Given the description of an element on the screen output the (x, y) to click on. 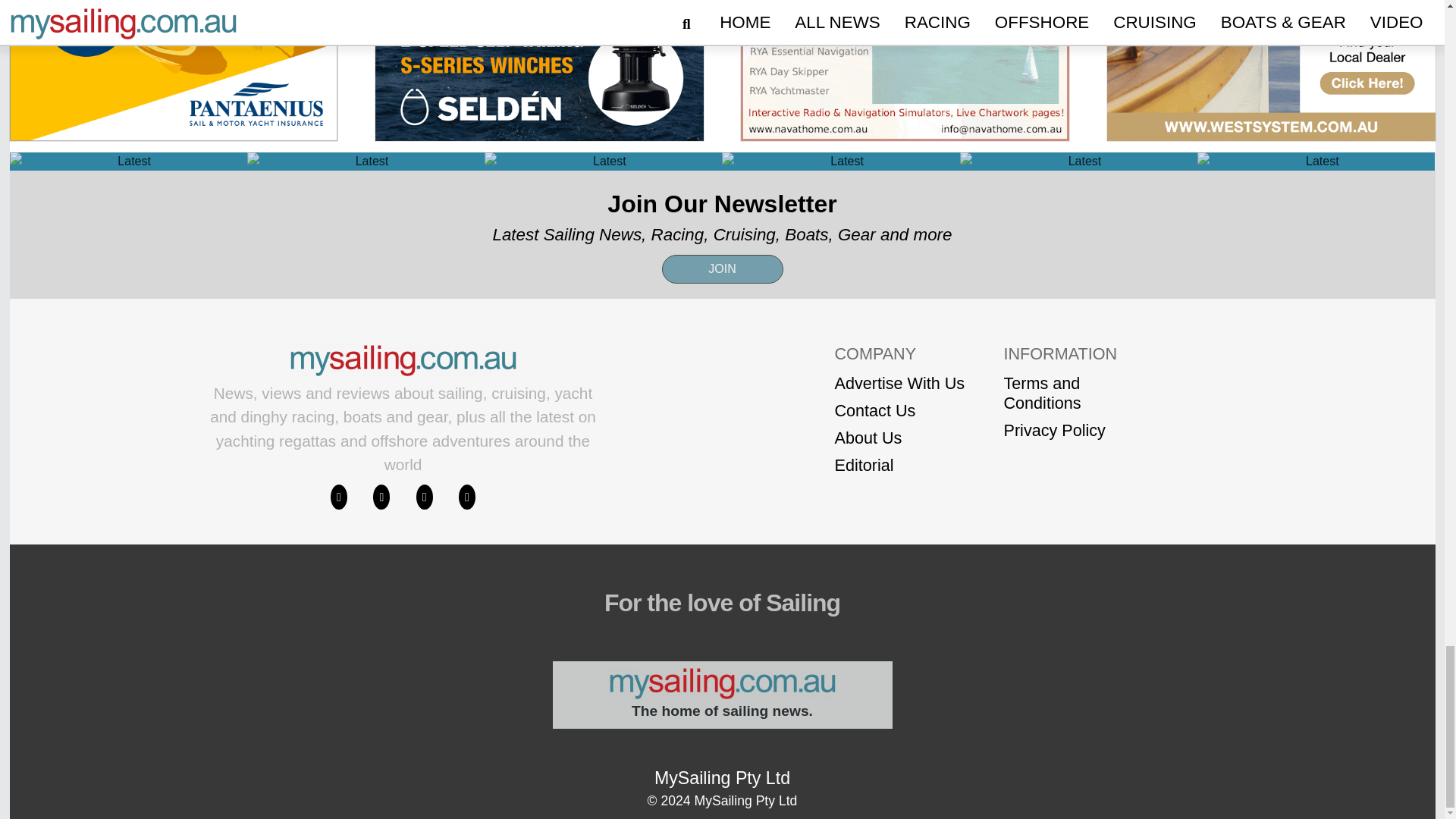
Contact Us (899, 410)
About Us (899, 437)
Advertise With Us (899, 383)
Editorial (899, 465)
